Given the description of an element on the screen output the (x, y) to click on. 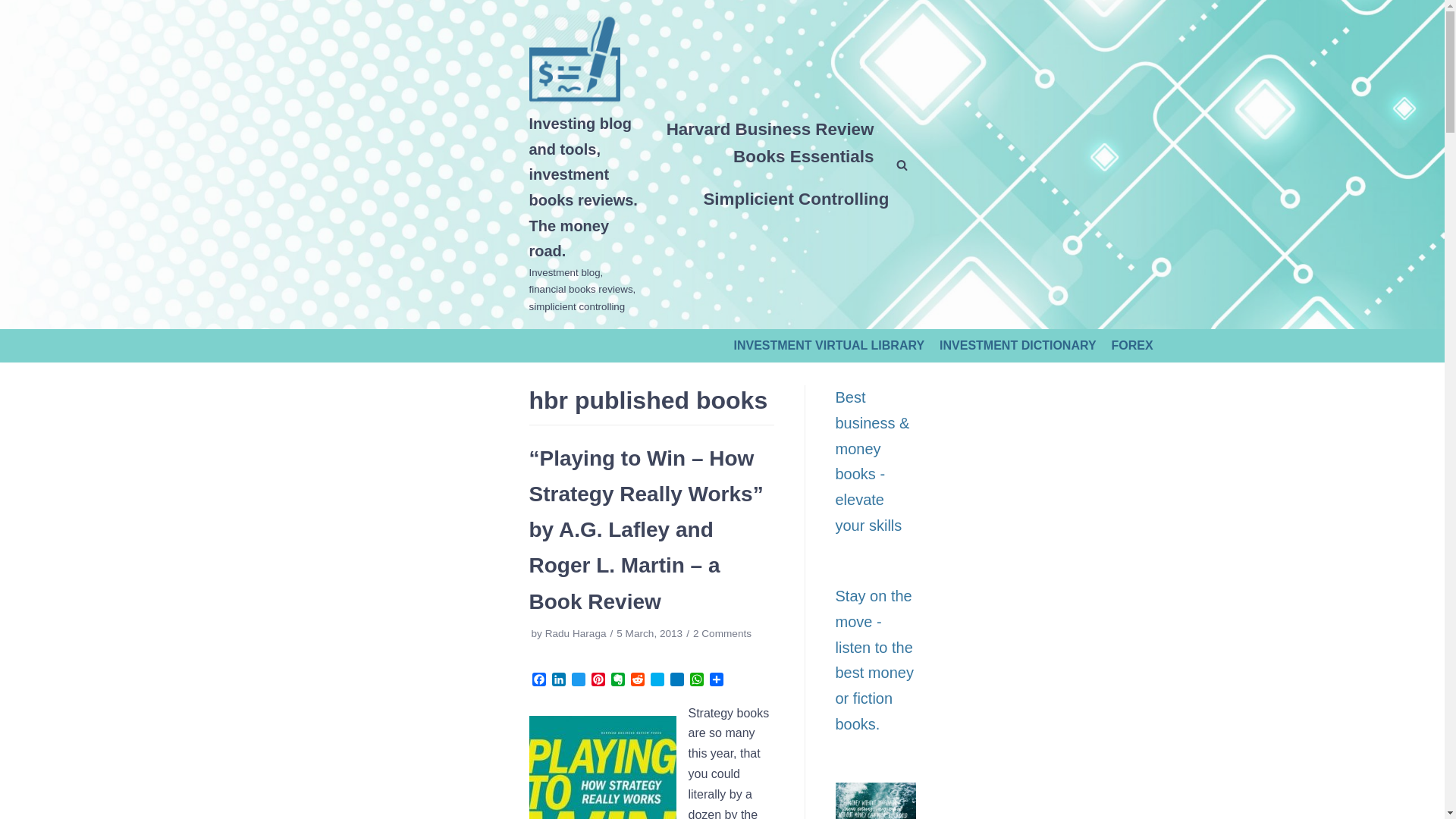
Evernote (617, 680)
Radu Haraga (575, 633)
WhatsApp (696, 680)
Reddit (637, 680)
Trello (676, 680)
Facebook (538, 680)
Skype (656, 680)
LinkedIn (558, 680)
Trello (676, 680)
Posts by Radu Haraga (575, 633)
